Given the description of an element on the screen output the (x, y) to click on. 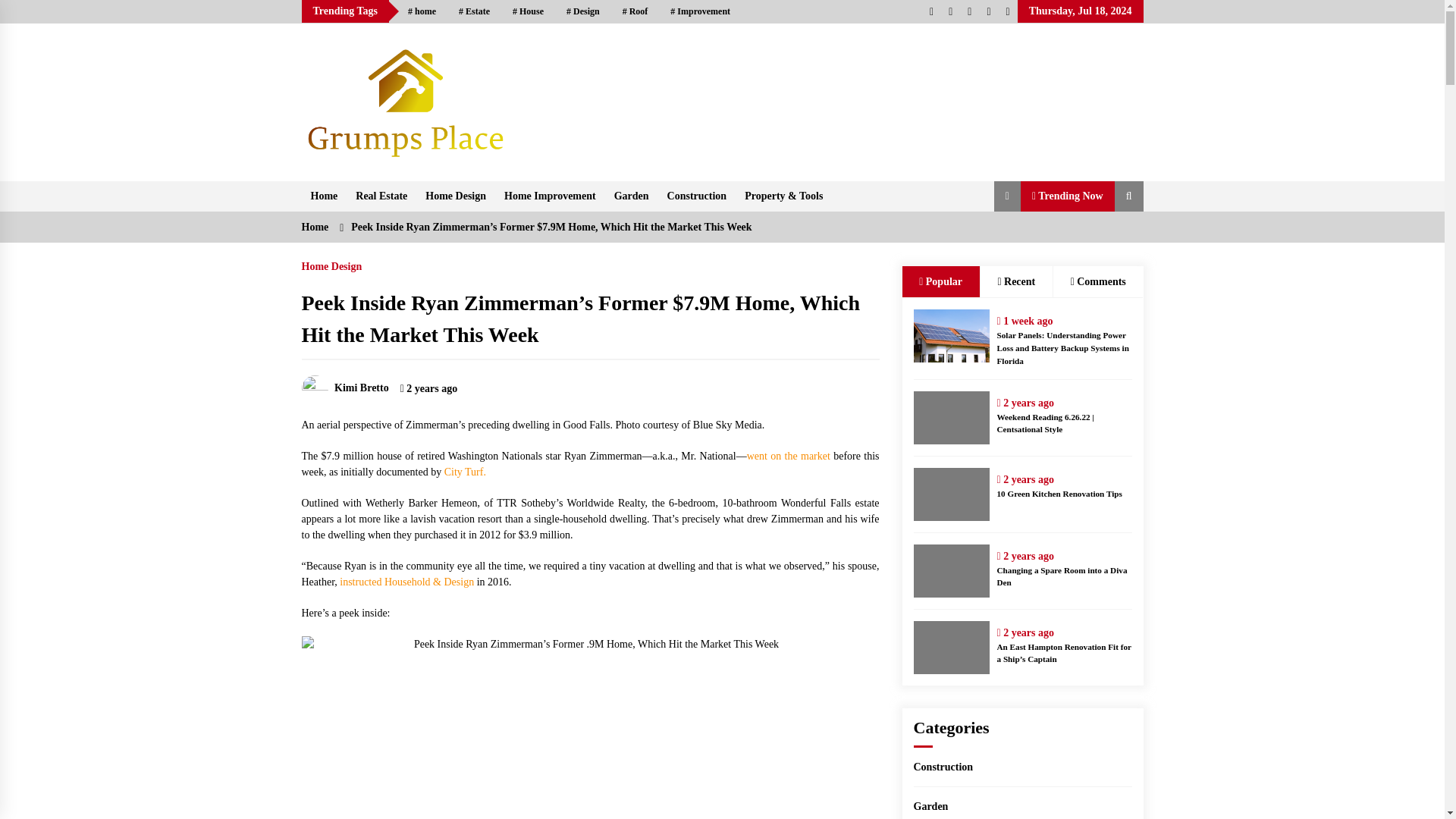
Home Design (455, 195)
Construction (697, 195)
home (421, 11)
Design (582, 11)
House (527, 11)
Improvement (700, 11)
living room 2 - Washingtonian (590, 727)
Estate (473, 11)
Garden (631, 195)
Real Estate (381, 195)
Home Improvement (550, 195)
Home (324, 195)
Roof (635, 11)
